Given the description of an element on the screen output the (x, y) to click on. 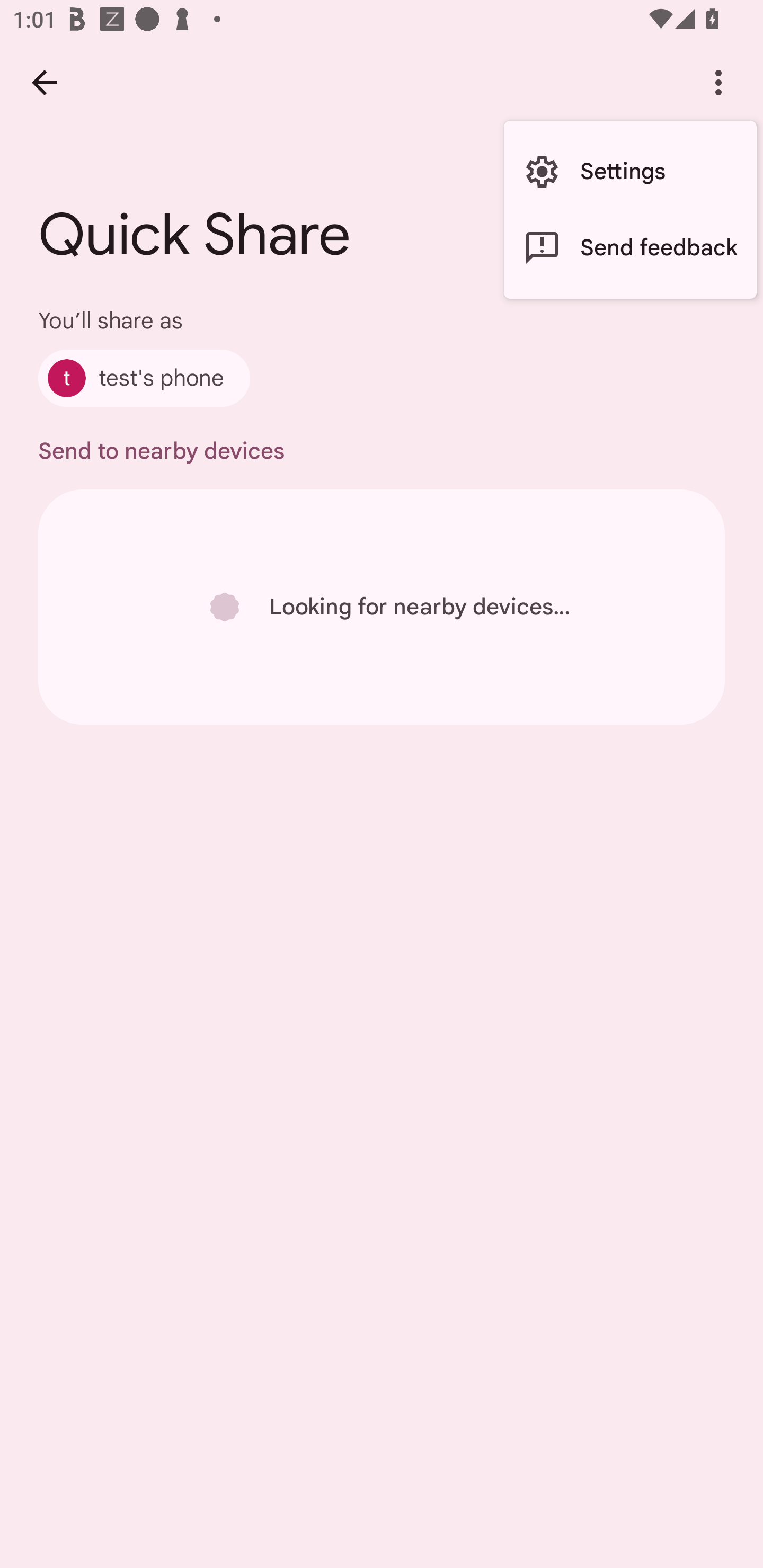
Settings (629, 171)
Send feedback (629, 247)
